Given the description of an element on the screen output the (x, y) to click on. 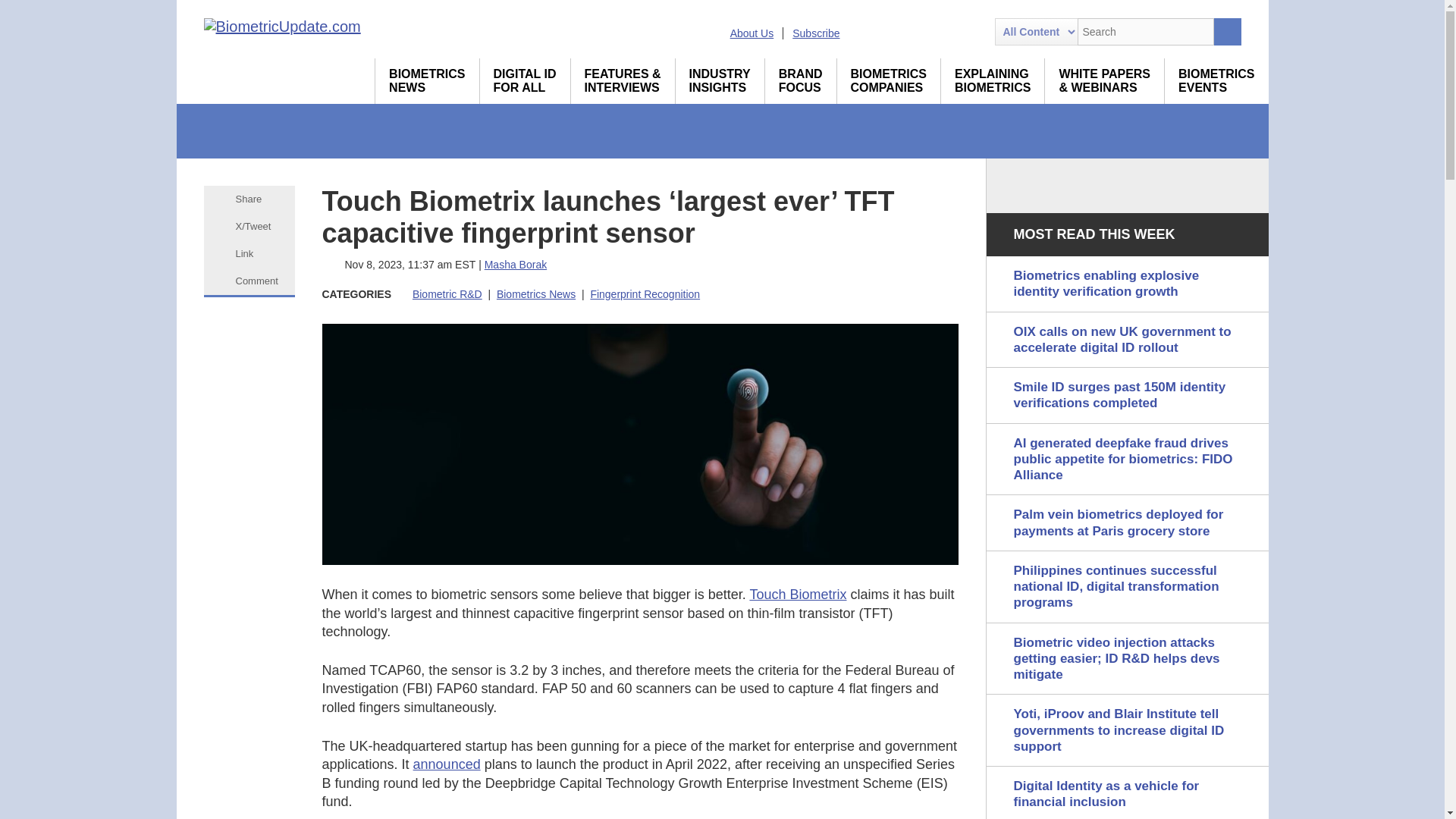
linkedin (890, 31)
Daily biometrics news and interviews (427, 81)
spotify (971, 31)
twitter (917, 31)
Biometrics and digital ID initiatives in developing nations (525, 81)
Biometrics marketplace brand focus (800, 81)
Features, interviews and special reports (622, 81)
Guest posts written by biometrics industry experts  (427, 81)
Trade shows featuring biometrics technology (719, 81)
About Us (1216, 81)
facebook (751, 33)
Biometrics companies, solutions and applications (944, 31)
Subscribe (888, 81)
rss (815, 33)
